Given the description of an element on the screen output the (x, y) to click on. 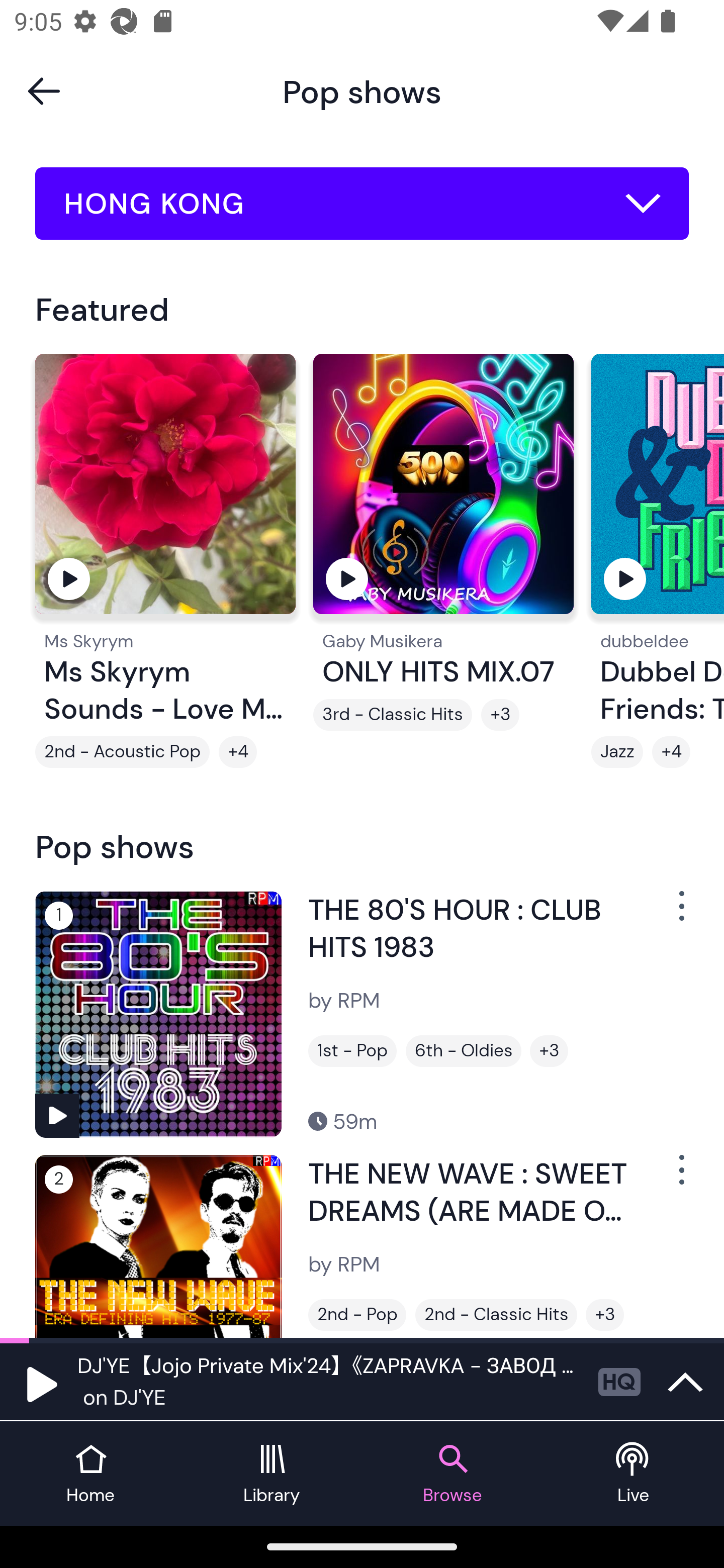
HONG KONG (361, 203)
3rd - Classic Hits (392, 714)
2nd - Acoustic Pop (122, 752)
Jazz (616, 752)
Show Options Menu Button (679, 913)
1st - Pop (352, 1050)
6th - Oldies (463, 1050)
Show Options Menu Button (679, 1178)
2nd - Pop (357, 1315)
2nd - Classic Hits (496, 1315)
Home tab Home (90, 1473)
Library tab Library (271, 1473)
Browse tab Browse (452, 1473)
Live tab Live (633, 1473)
